Given the description of an element on the screen output the (x, y) to click on. 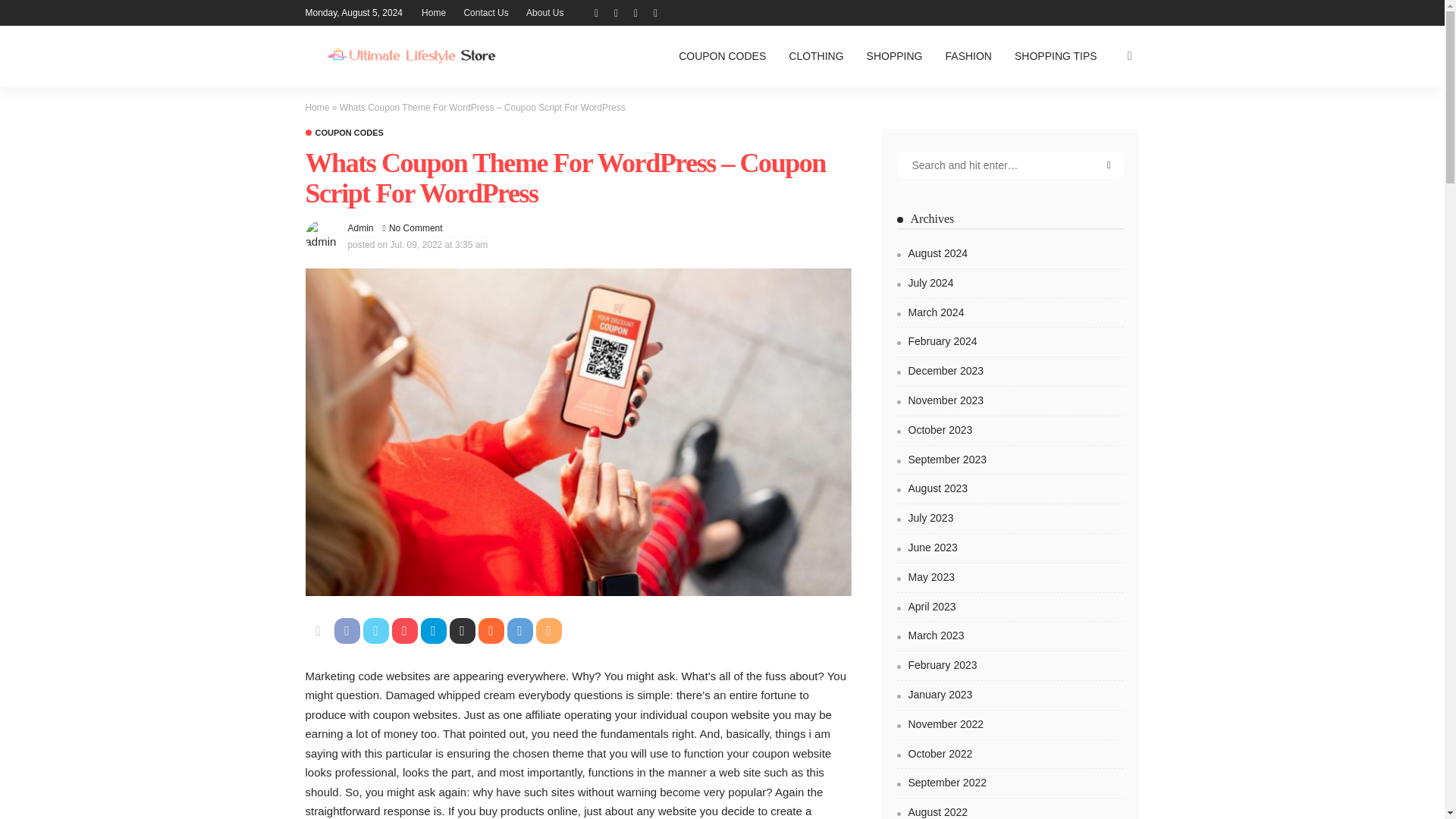
Admin (359, 227)
About Us (544, 12)
Home (432, 12)
No Comment (415, 227)
Ultimate Lifestyle Store (410, 55)
SHOPPING TIPS (1055, 55)
CLOTHING (815, 55)
COUPON CODES (343, 132)
COUPON CODES (721, 55)
Coupon codes (343, 132)
